Given the description of an element on the screen output the (x, y) to click on. 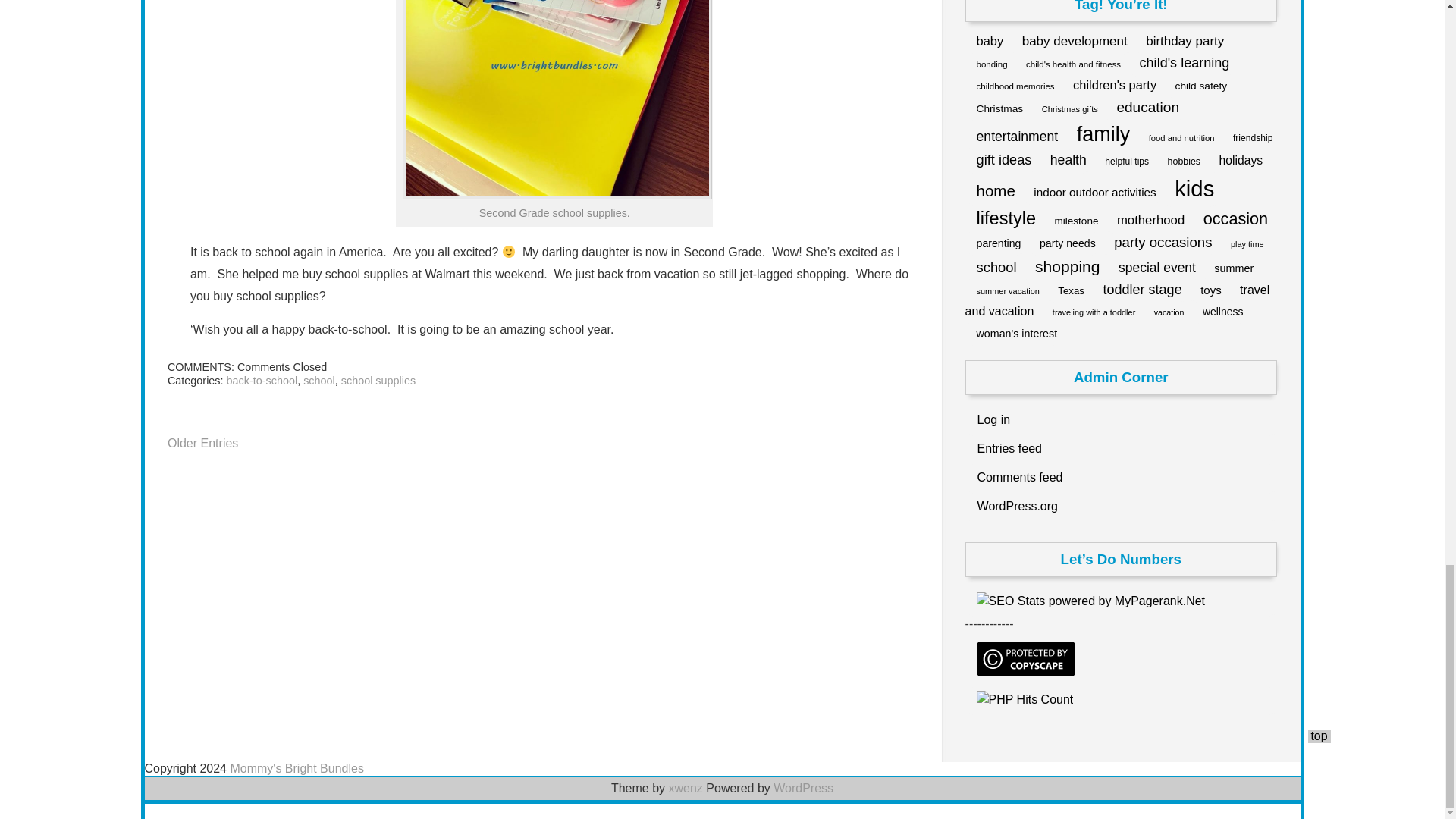
Protected by Copyscape - Do not copy content from this page. (1025, 658)
school (318, 379)
User Stats (1025, 700)
xwenz (685, 788)
Older Entries (202, 442)
school supplies (377, 379)
WordPress (802, 788)
back-to-school (262, 379)
